Given the description of an element on the screen output the (x, y) to click on. 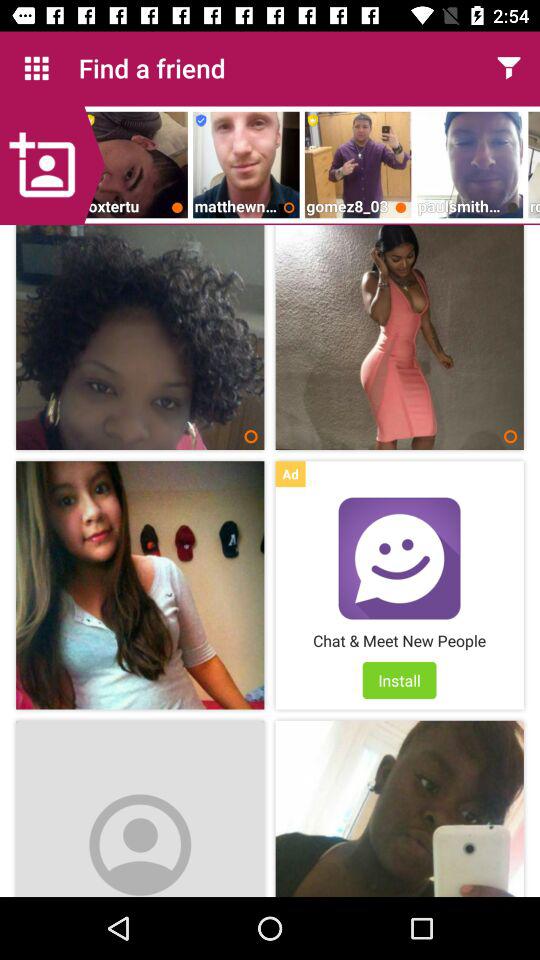
icon to install an app (399, 558)
